Given the description of an element on the screen output the (x, y) to click on. 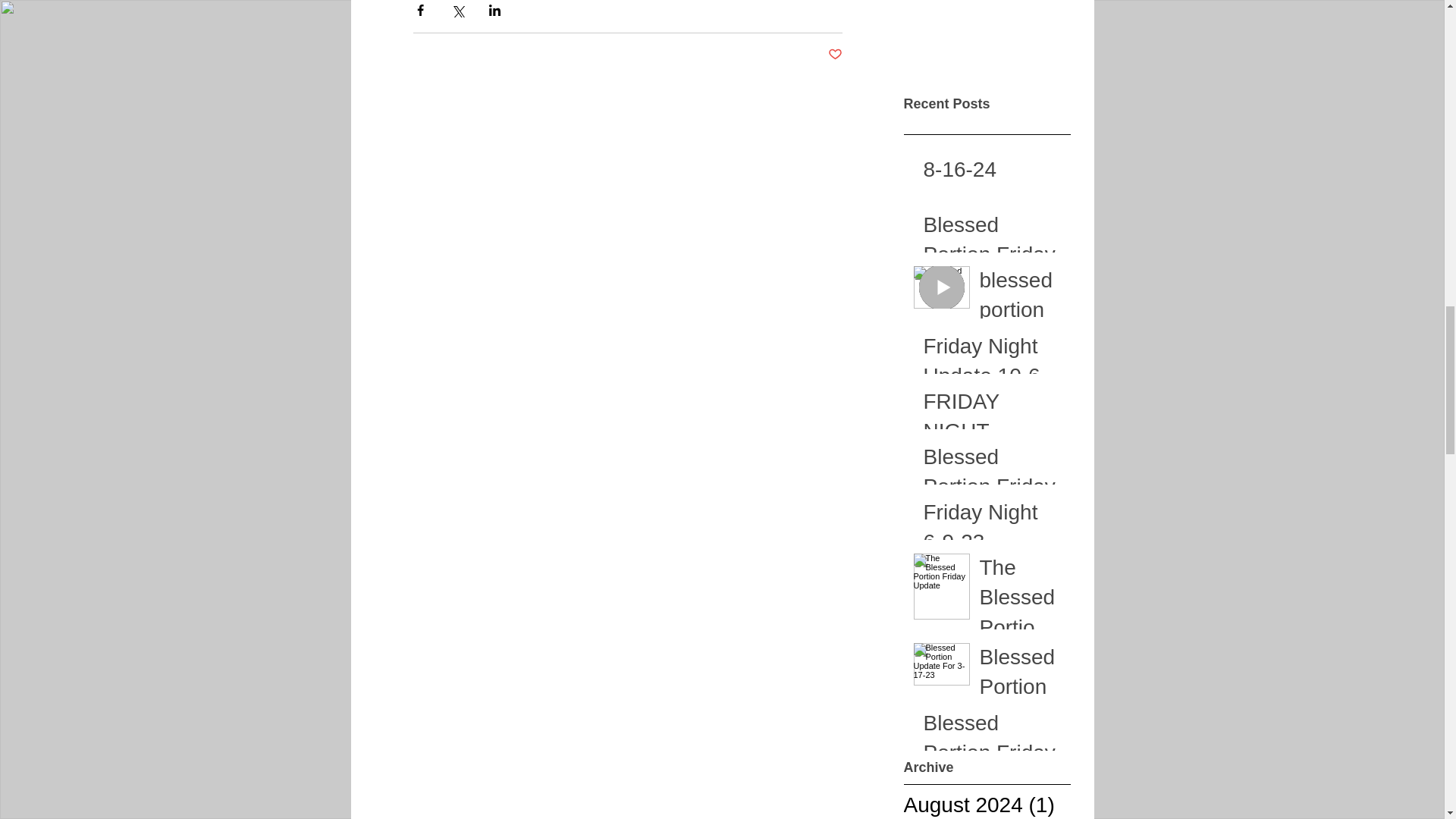
Blessed Portion Friday Update (992, 257)
Friday Night 6-9-23 (992, 529)
Post not marked as liked (835, 54)
Friday Night Update 10-6-23 (992, 378)
8-16-24 (992, 172)
FRIDAY NIGHT UPDATE (992, 434)
Blessed Portion Friday Update 10-7-22 (992, 755)
Blessed Portion Friday Update (992, 489)
